Given the description of an element on the screen output the (x, y) to click on. 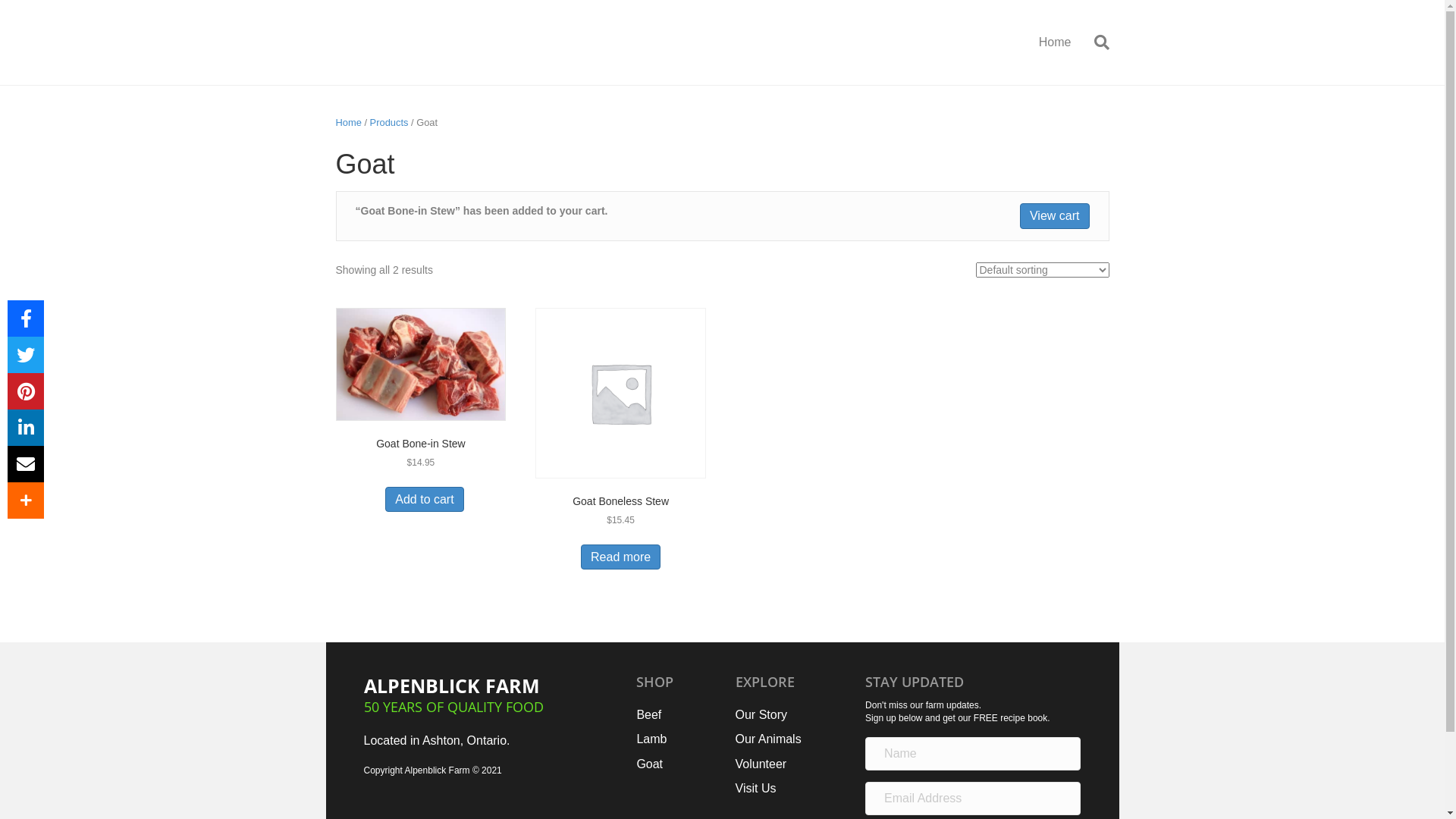
Our Animals Element type: text (768, 738)
Home Element type: text (1054, 42)
Email this  Element type: hover (25, 463)
View cart Element type: text (1054, 215)
Add this to LinkedIn Element type: hover (25, 427)
Goat Boneless Stew
$15.45 Element type: text (620, 435)
Tweet this ! Element type: hover (25, 354)
Add to cart Element type: text (424, 498)
Share this on Facebook Element type: hover (25, 318)
More share links Element type: hover (25, 500)
Our Story Element type: text (761, 714)
Home Element type: text (347, 122)
Submit this to Pinterest Element type: hover (25, 391)
Volunteer Element type: text (761, 763)
Products Element type: text (389, 122)
Goat Bone-in Stew
$14.95 Element type: text (420, 406)
Visit Us Element type: text (755, 787)
Lamb Element type: text (651, 738)
Goat Element type: text (649, 763)
Beef Element type: text (648, 714)
Read more Element type: text (620, 556)
